Given the description of an element on the screen output the (x, y) to click on. 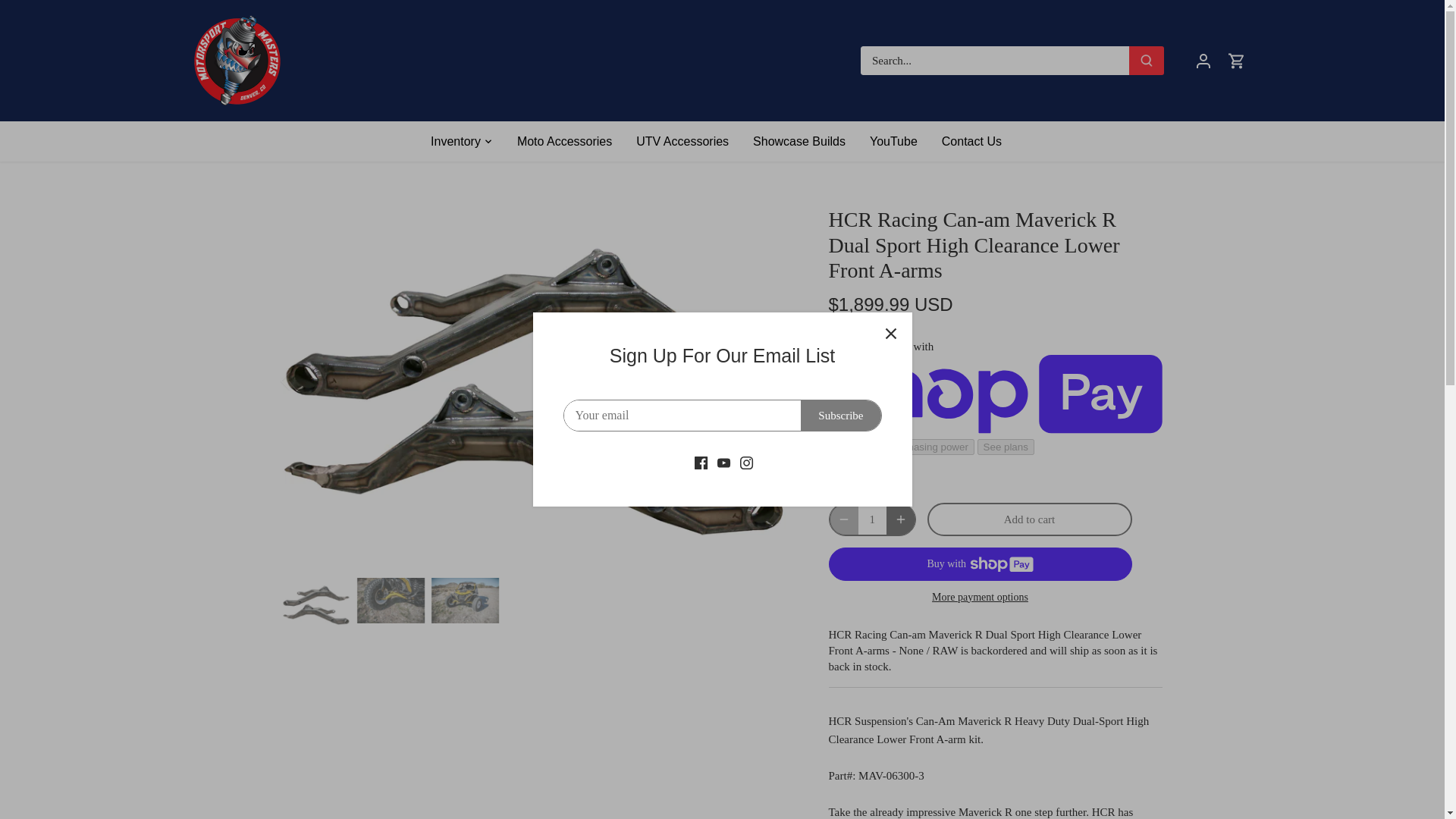
Inventory (461, 141)
Add to cart (1028, 519)
1 (872, 519)
YouTube (893, 141)
UTV Accessories (682, 141)
Contact Us (971, 141)
More payment options (979, 596)
Moto Accessories (564, 141)
Showcase Builds (799, 141)
